Given the description of an element on the screen output the (x, y) to click on. 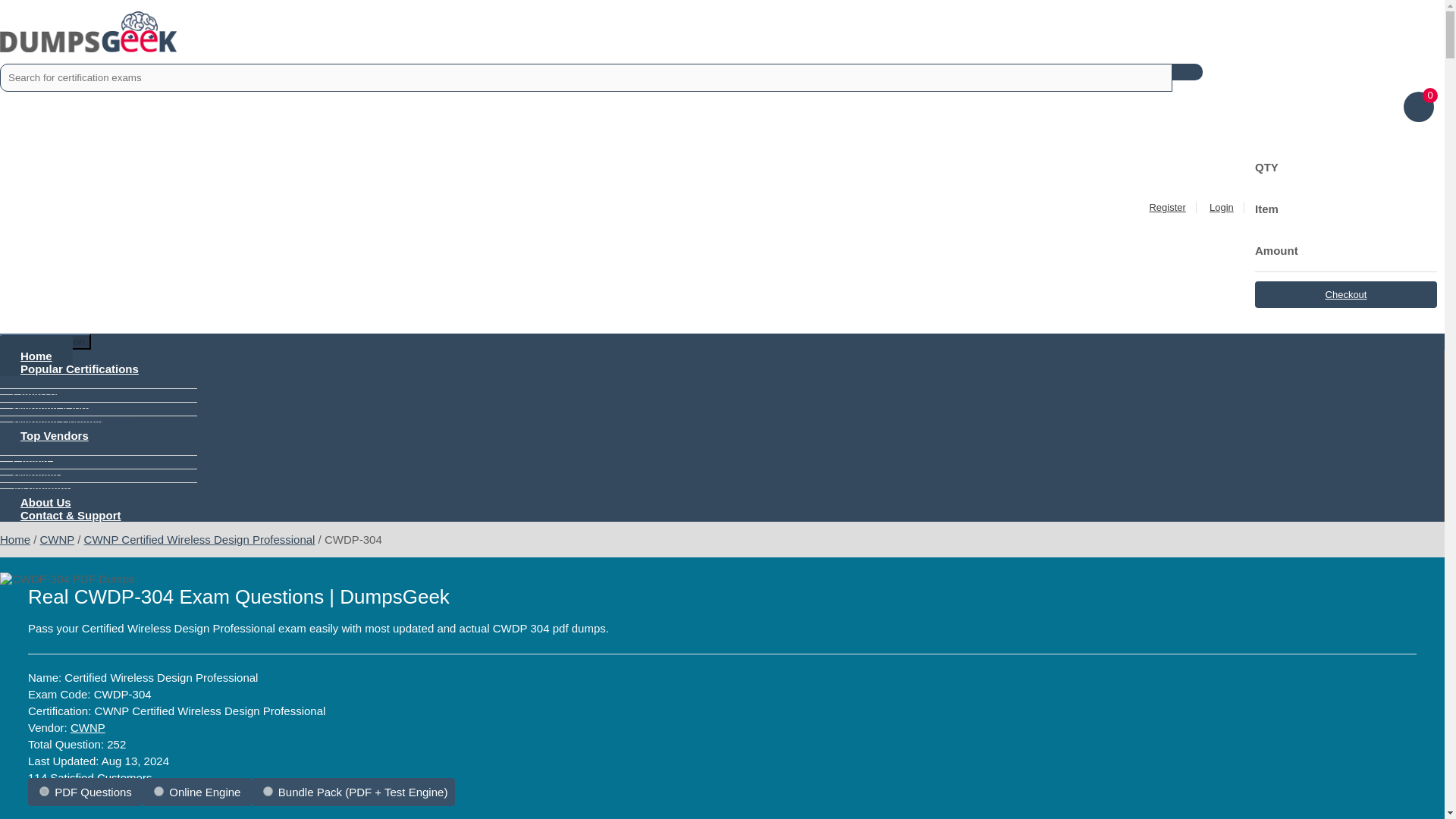
1 (44, 791)
3 (268, 791)
Microsoft (34, 475)
Toggle navigation (45, 341)
Home (36, 355)
Cisco (26, 448)
CCNA (28, 381)
Google (30, 462)
Home (15, 539)
Register (1166, 206)
